Given the description of an element on the screen output the (x, y) to click on. 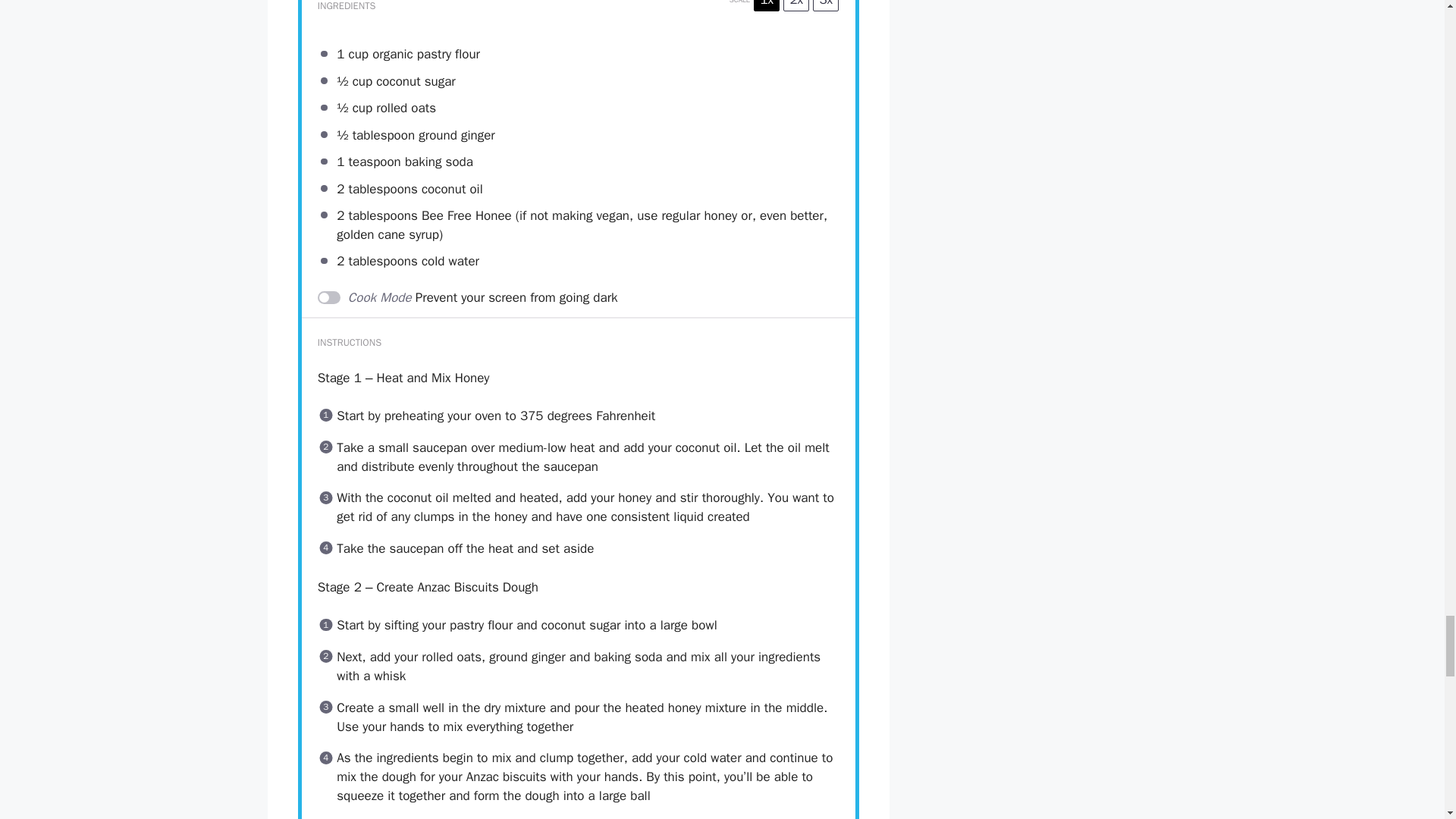
1x (766, 6)
3x (825, 6)
2x (796, 6)
